Given the description of an element on the screen output the (x, y) to click on. 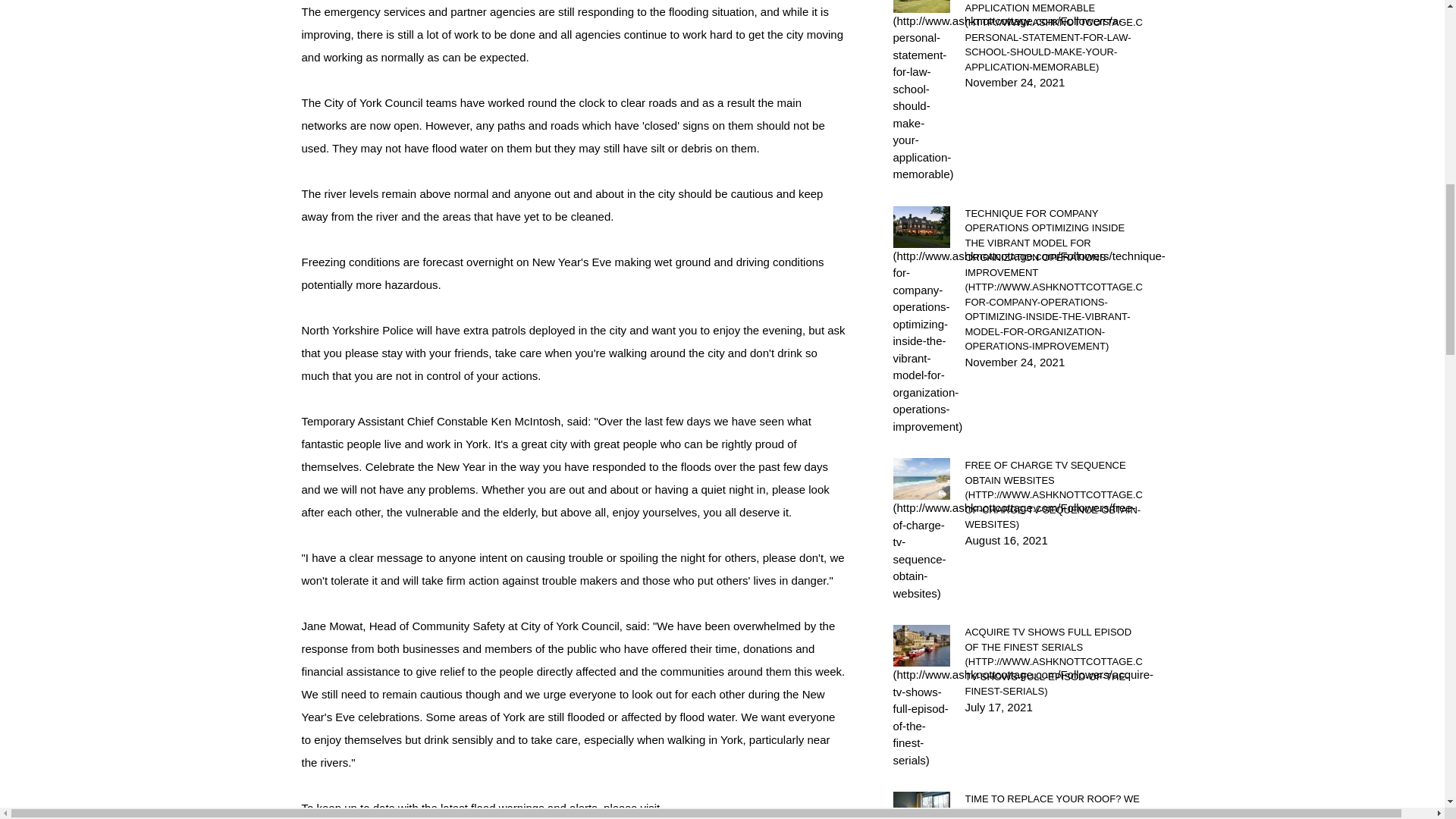
FREE OF CHARGE TV SEQUENCE OBTAIN WEBSITES (1052, 494)
